Given the description of an element on the screen output the (x, y) to click on. 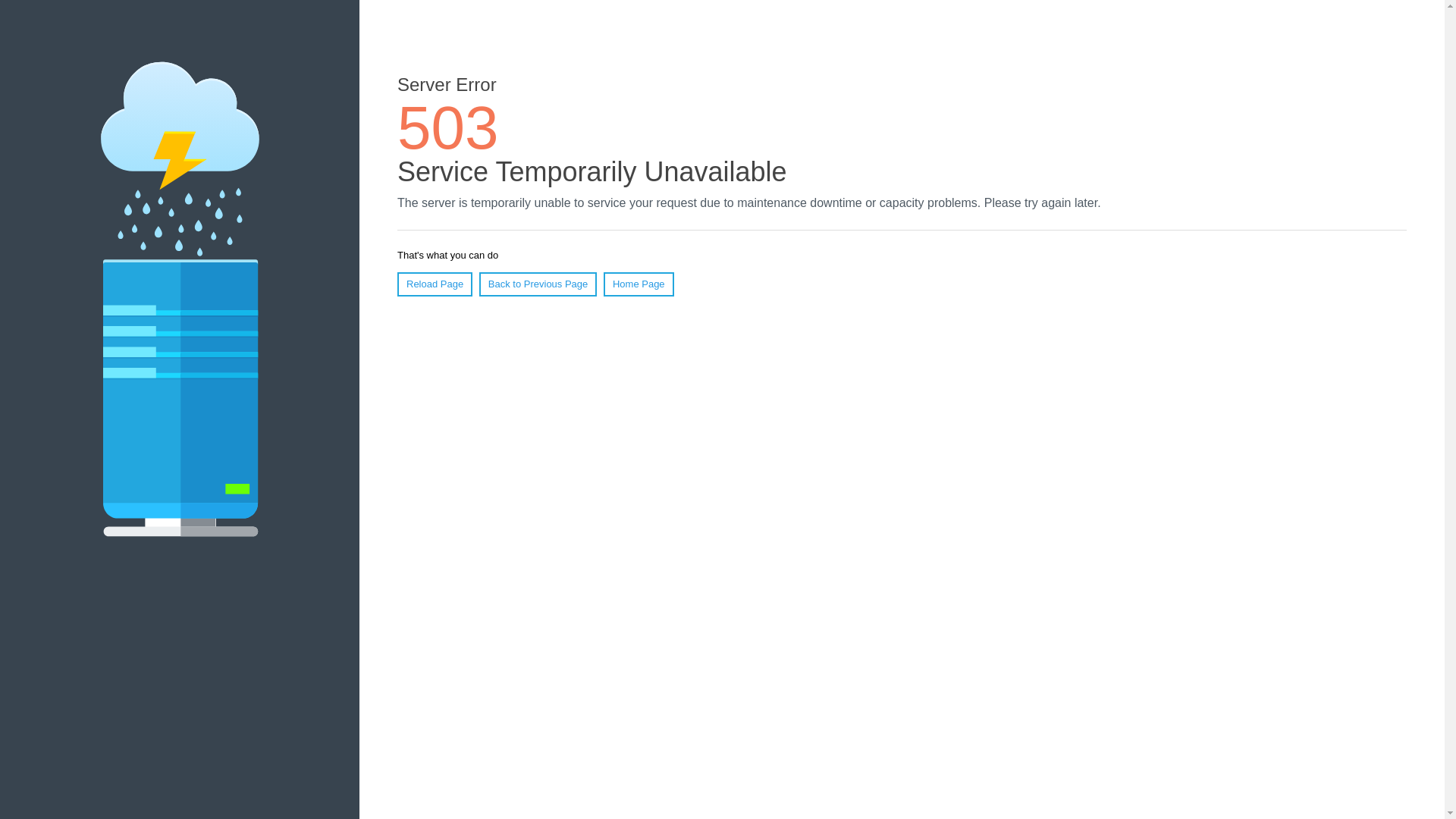
Reload Page Element type: text (434, 284)
Back to Previous Page Element type: text (538, 284)
Home Page Element type: text (638, 284)
